Given the description of an element on the screen output the (x, y) to click on. 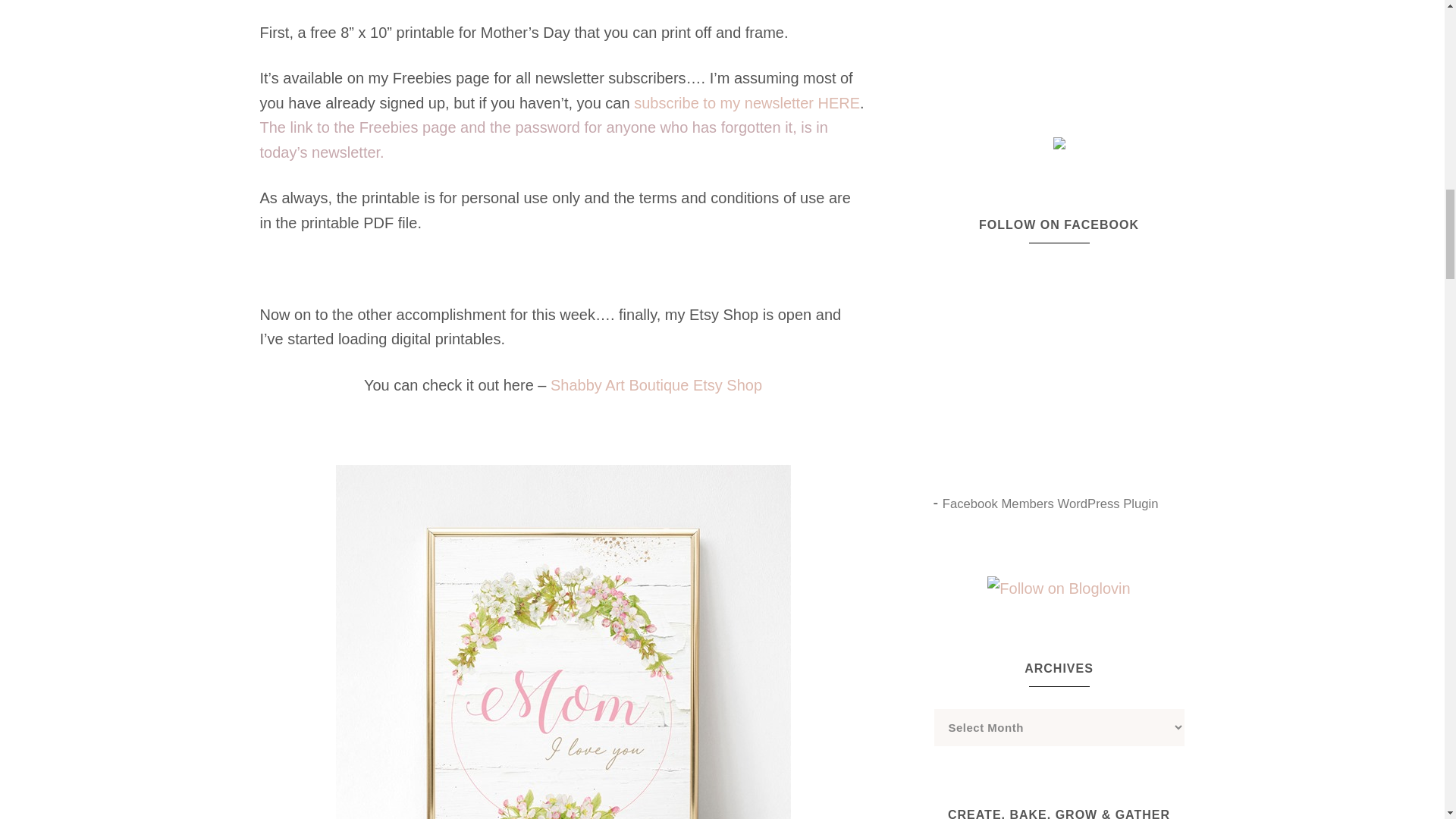
Facebook Members WordPress Plugin by Crunchify (1050, 503)
Shabby Art Boutique Etsy Shop (655, 384)
subscribe to my newsletter HERE (746, 103)
Follow Shabby Art Boutique on Bloglovin (1058, 588)
